Given the description of an element on the screen output the (x, y) to click on. 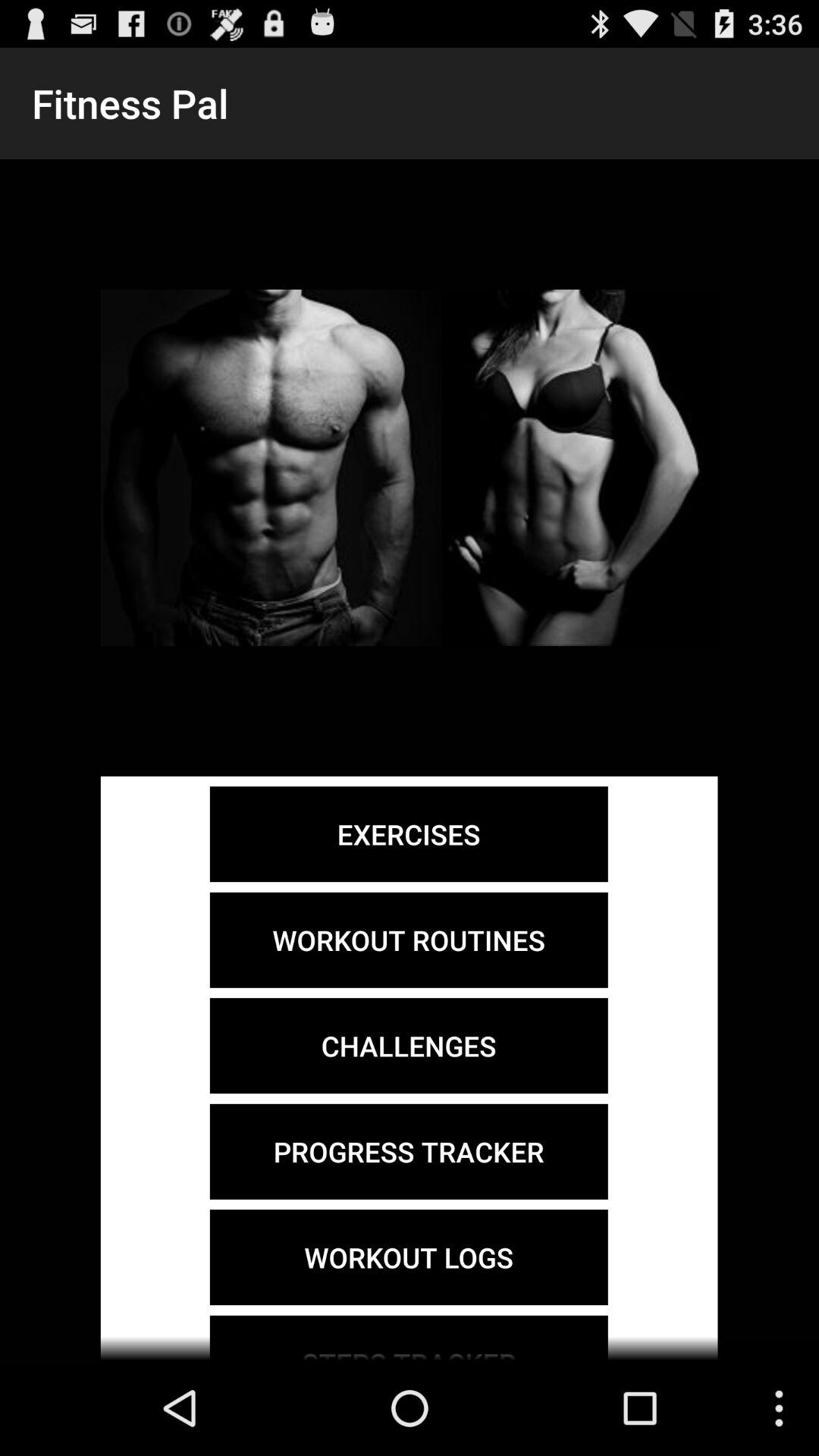
launch the icon above the challenges item (408, 939)
